Given the description of an element on the screen output the (x, y) to click on. 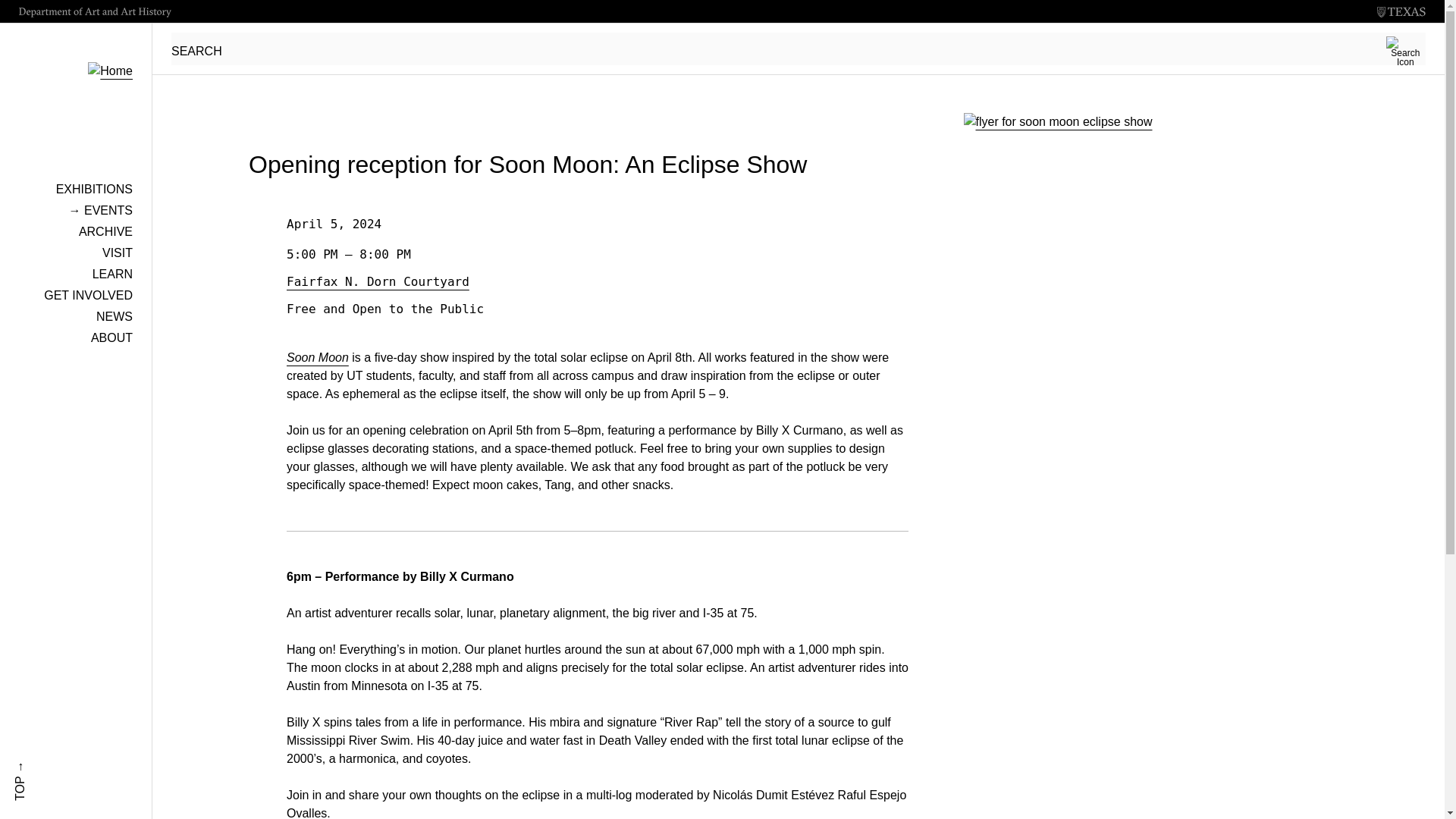
Fairfax N. Dorn Courtyard (377, 281)
SEARCH (798, 48)
LEARN (112, 273)
EVENTS (100, 210)
VISIT (116, 252)
GET INVOLVED (87, 295)
ABOUT (111, 337)
Soon Moon (317, 357)
NEWS (114, 316)
Home (75, 52)
EXHIBITIONS (94, 188)
ARCHIVE (105, 231)
SEARCH (798, 48)
